Given the description of an element on the screen output the (x, y) to click on. 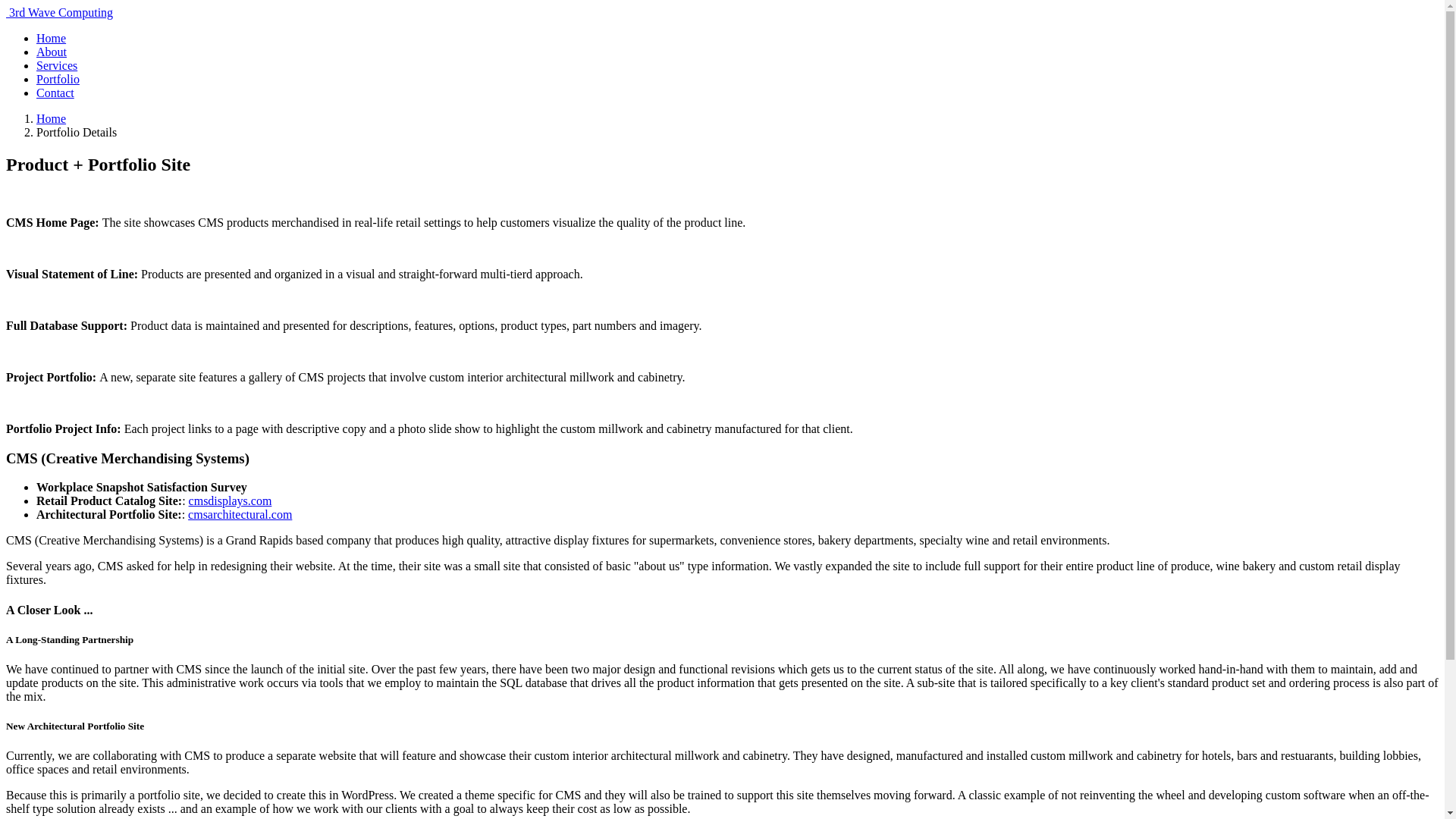
cmsdisplays.com Element type: text (230, 500)
cmsarchitectural.com Element type: text (239, 514)
Home Element type: text (50, 37)
About Element type: text (51, 51)
Contact Element type: text (55, 92)
Home Element type: text (50, 118)
Services Element type: text (56, 65)
Portfolio Element type: text (57, 78)
3rd Wave Computing Element type: text (59, 12)
